Given the description of an element on the screen output the (x, y) to click on. 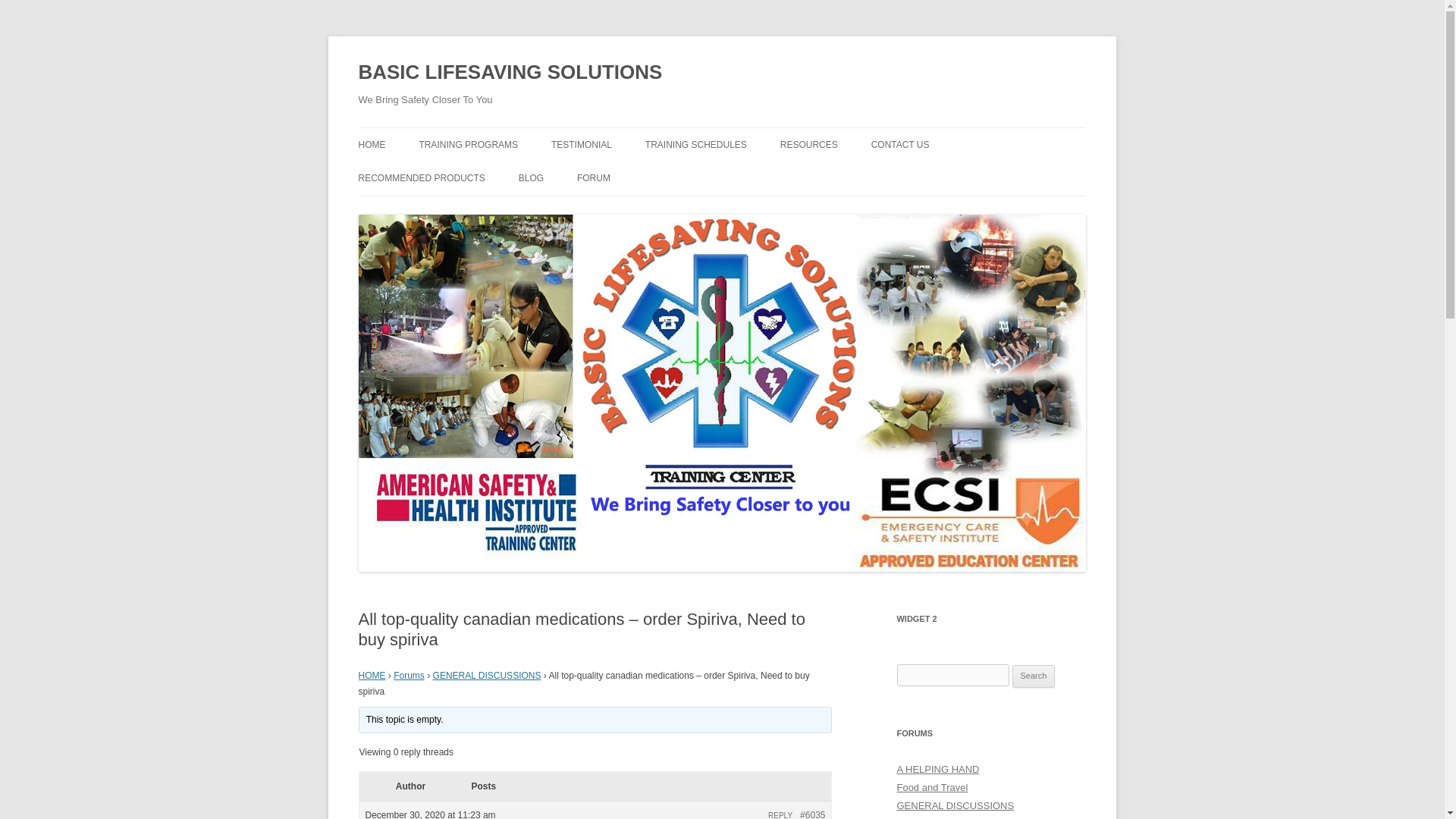
Forums (409, 675)
FORUM (593, 177)
RECOMMENDED PRODUCTS (421, 177)
BASIC LIFESAVING SOLUTIONS (510, 72)
REPLY (780, 815)
STAR OF LIFE (593, 210)
Food and Travel (932, 787)
INTRODUCE YOURSELF (652, 210)
TRAINING SCHEDULES (695, 144)
GENERAL DISCUSSIONS (954, 805)
RESOURCES (809, 144)
TRAINING PROGRAMS (468, 144)
HOME (371, 675)
GENERAL DISCUSSIONS (486, 675)
